Given the description of an element on the screen output the (x, y) to click on. 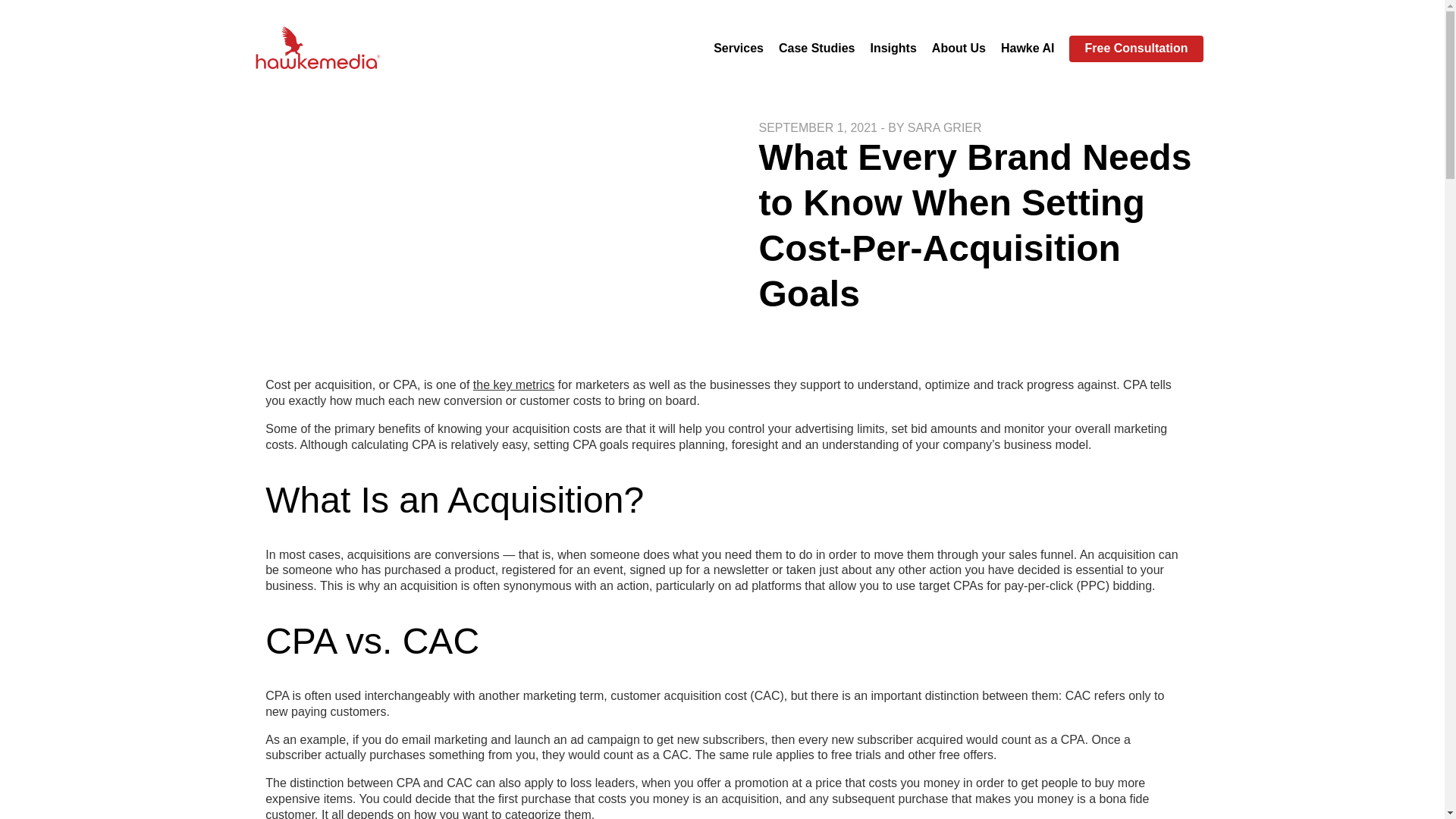
Case Studies (816, 47)
Free Consultation (1135, 48)
About Us (958, 47)
Home (319, 48)
Insights (892, 47)
the key metrics (513, 384)
Hawke AI (1027, 47)
Skip To Main Content (17, 17)
Services (737, 47)
